Given the description of an element on the screen output the (x, y) to click on. 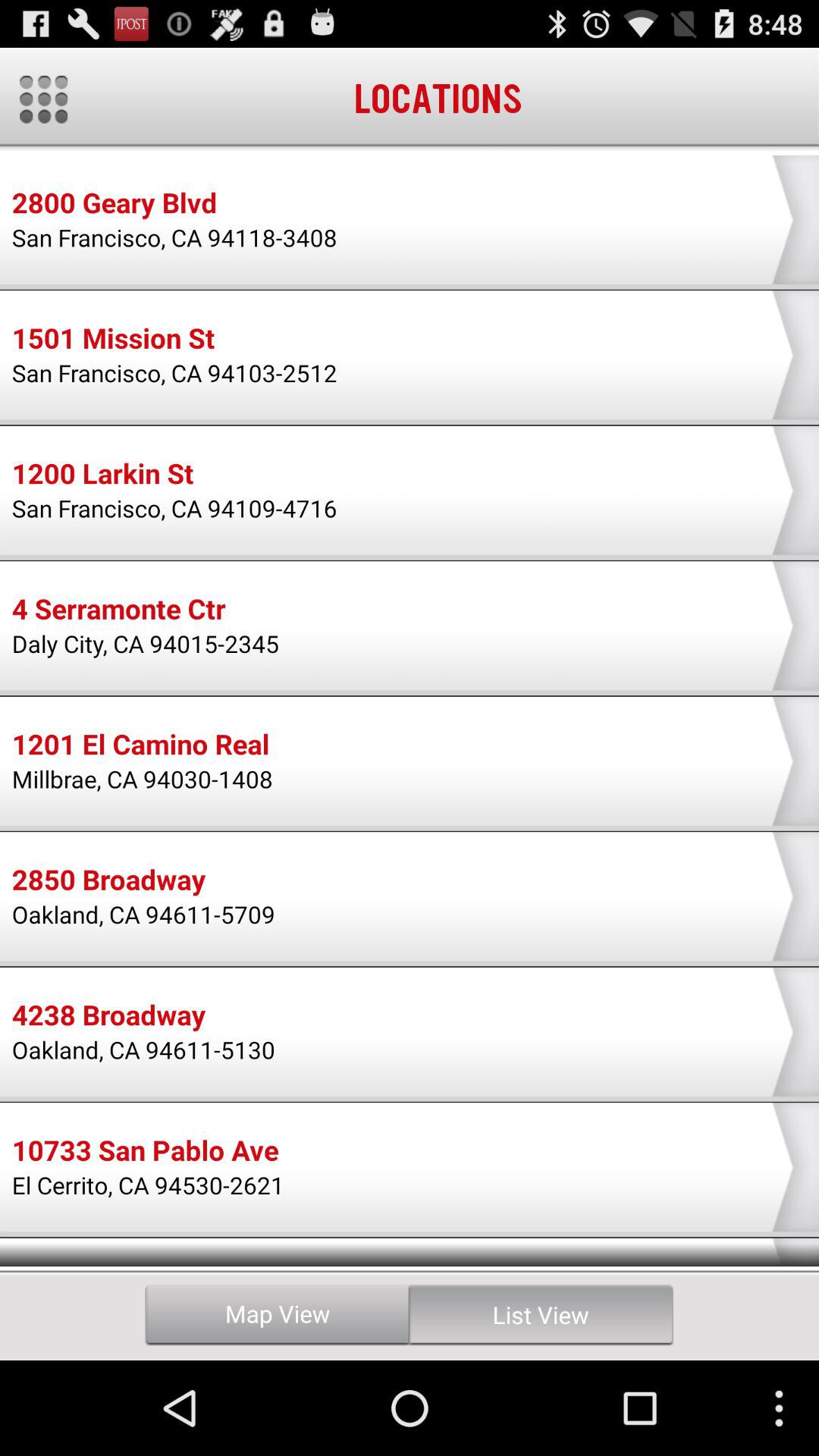
jump until the 10733 san pablo icon (144, 1152)
